Given the description of an element on the screen output the (x, y) to click on. 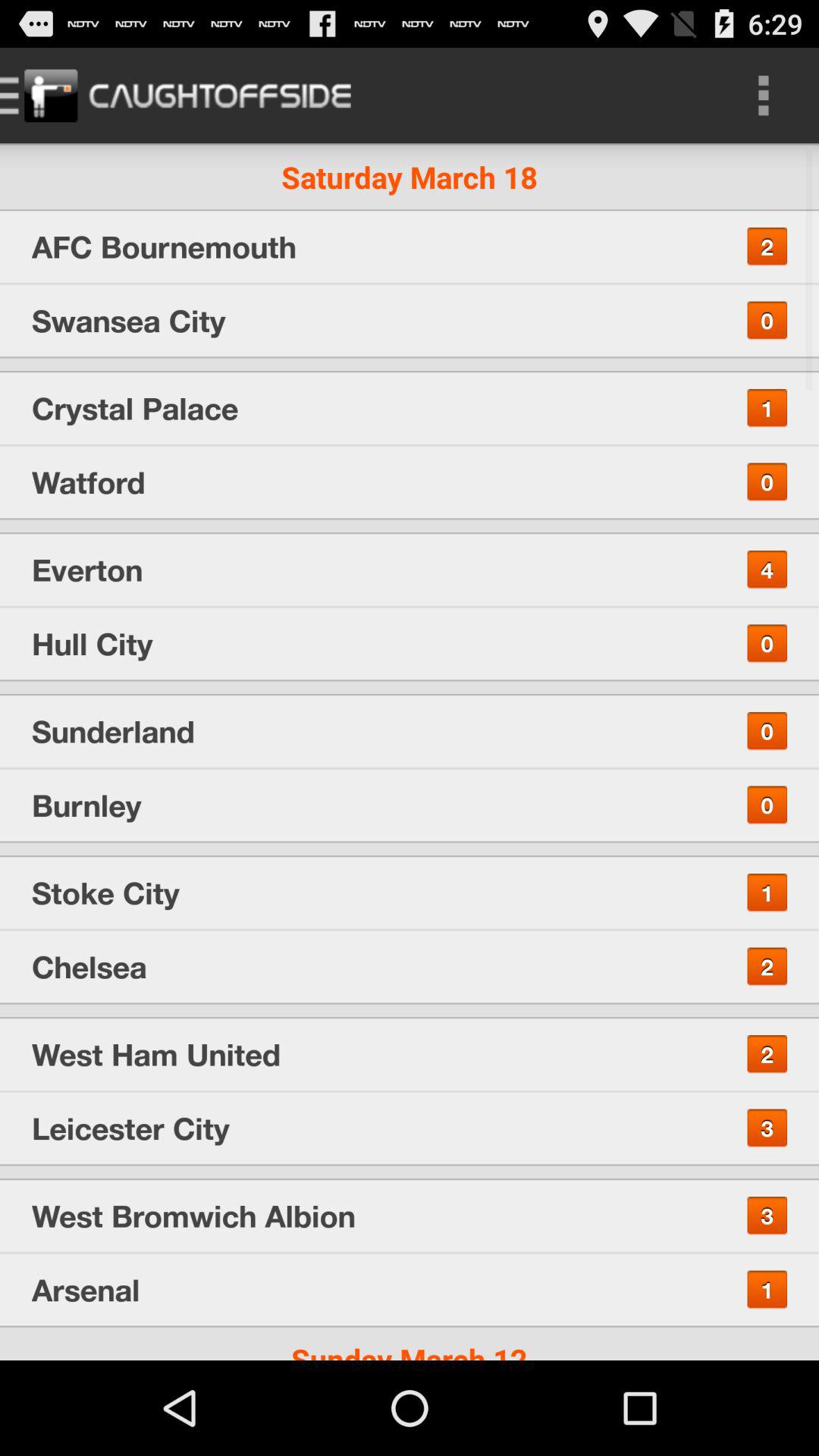
choose item to the right of the saturday march 18 app (763, 95)
